Given the description of an element on the screen output the (x, y) to click on. 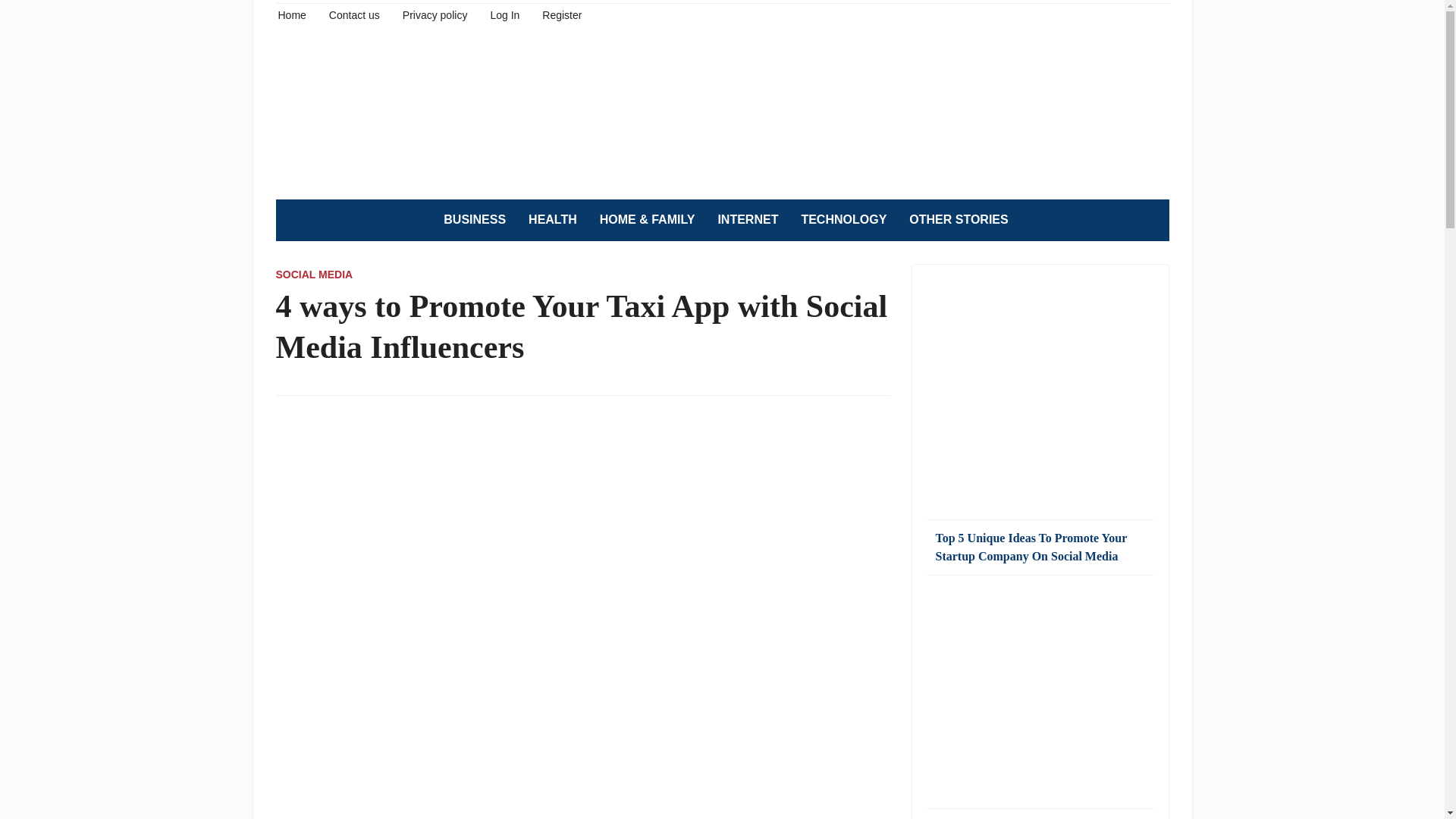
Register (560, 14)
Privacy policy (435, 14)
Search (1149, 219)
Contact us (354, 14)
Home (291, 14)
Log In (504, 14)
